Given the description of an element on the screen output the (x, y) to click on. 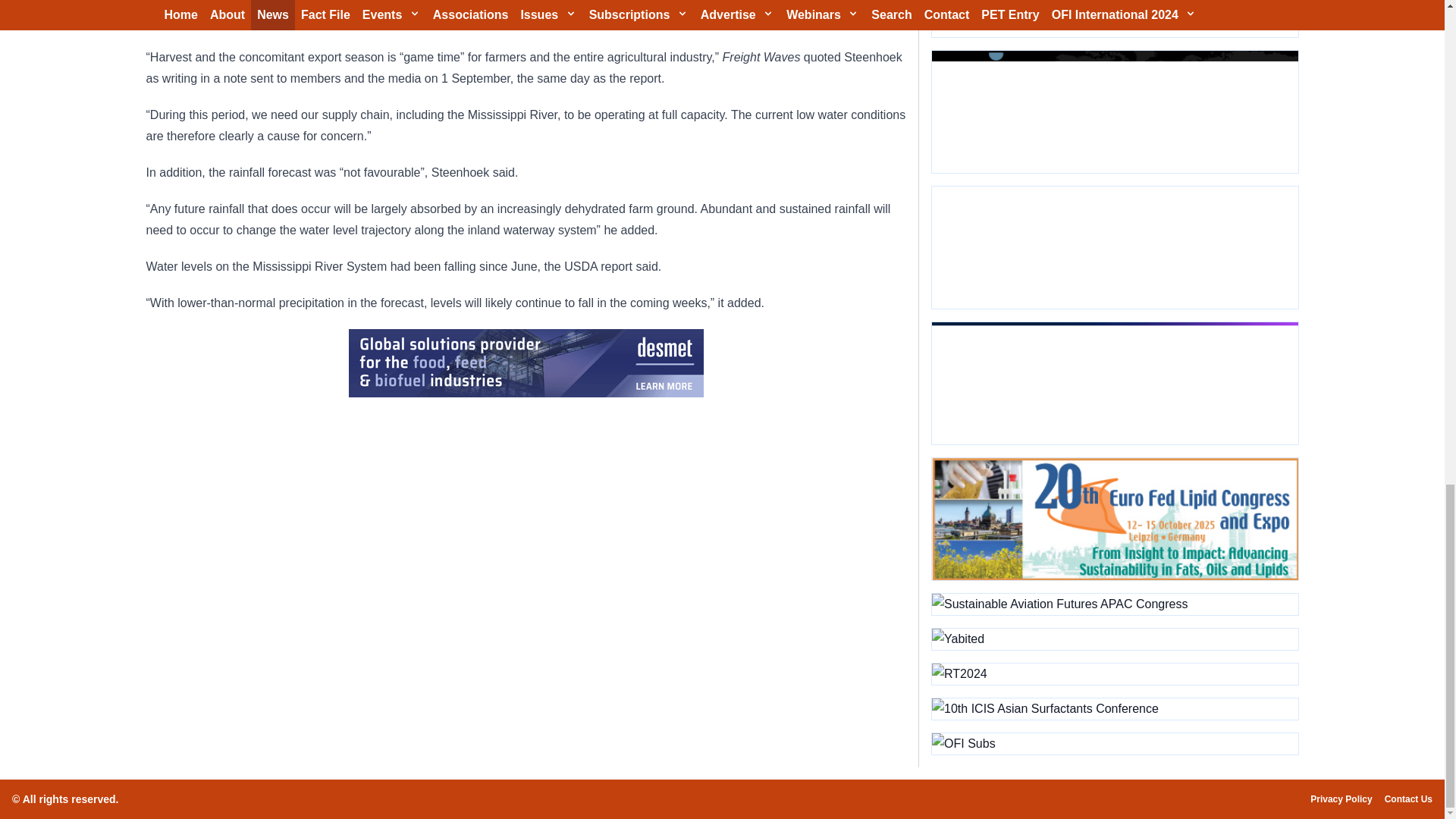
ICIS Pan American Oleochemicals Conference (1114, 383)
Globoil 2024 (1114, 18)
10th ICIS Asian Surfactants Conference (1114, 708)
Sustainable Aviation Futures North America Congress (1114, 111)
RT2024 (1114, 673)
2nd Berlin Symposium 2024 (1114, 247)
Sustainable Aviation Futures APAC Congress (1114, 604)
Yabited (1114, 639)
OFI Subs (1114, 743)
Euro Fed Lipid 2025 (1114, 518)
Desmet 2022-4 footer banner (525, 363)
